Given the description of an element on the screen output the (x, y) to click on. 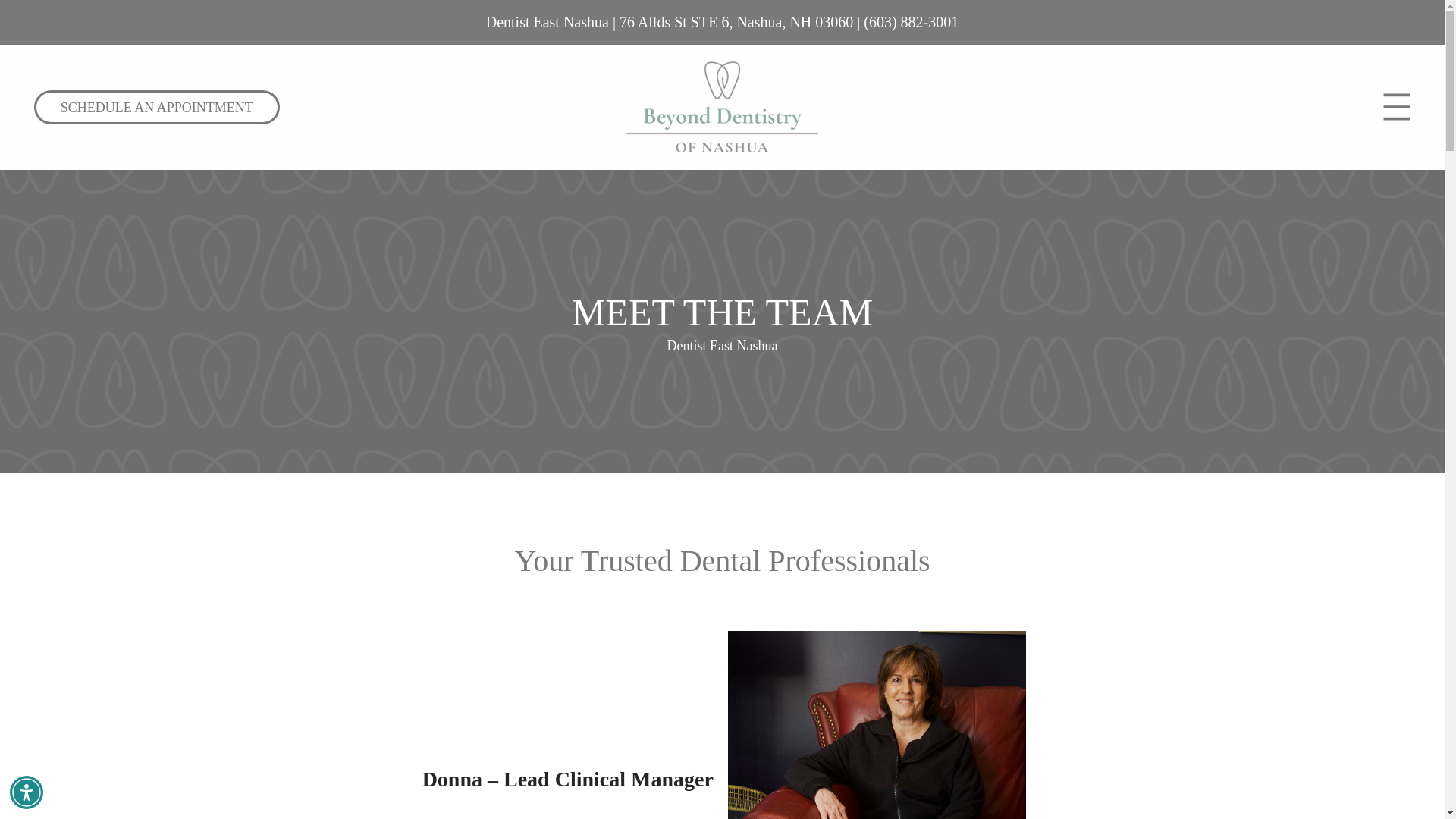
76 Allds St STE 6, Nashua, NH 03060 (736, 21)
Accessibility Menu (26, 792)
